Given the description of an element on the screen output the (x, y) to click on. 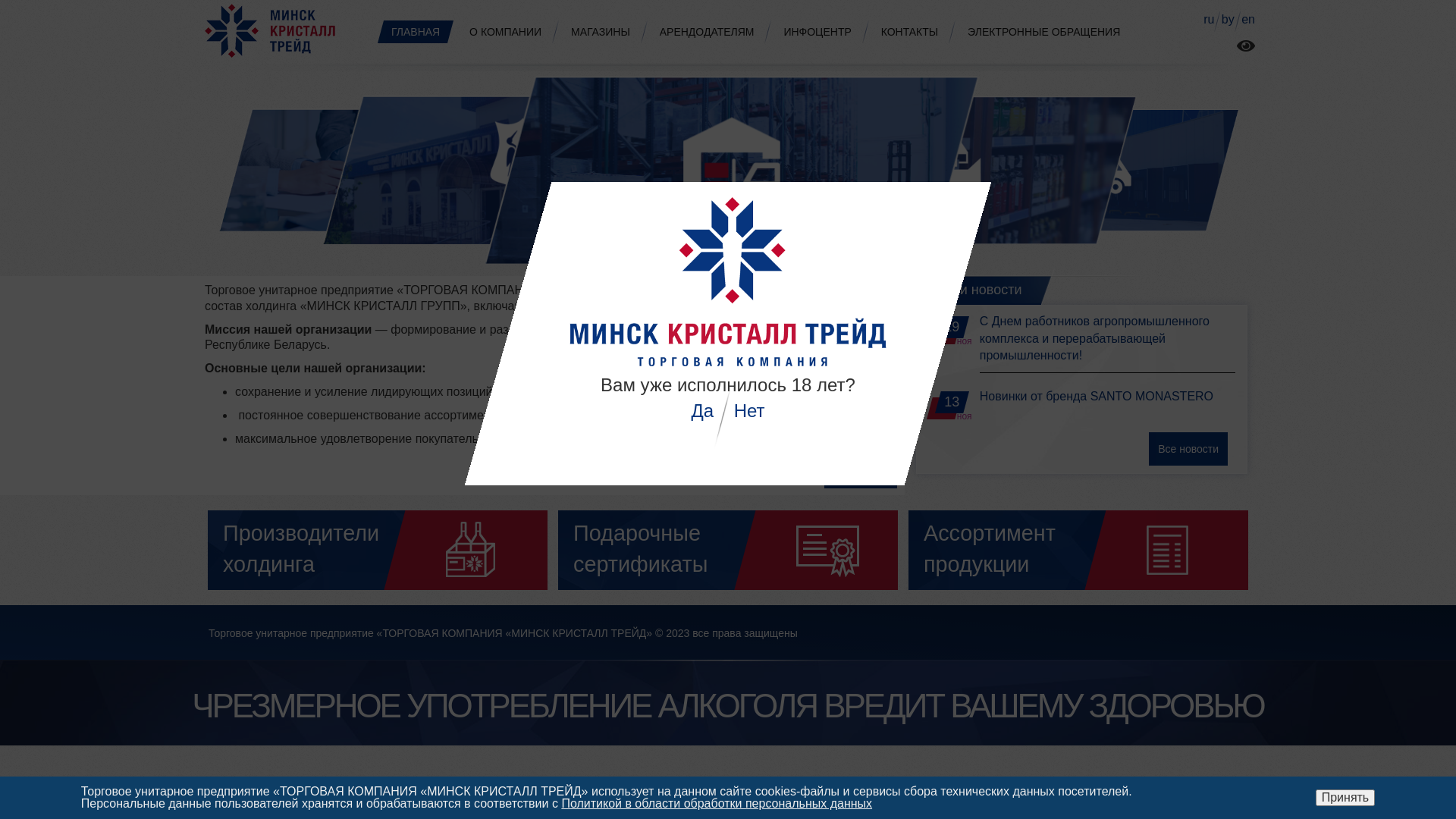
by Element type: text (1227, 18)
en Element type: text (1248, 18)
ru Element type: text (1208, 18)
